Given the description of an element on the screen output the (x, y) to click on. 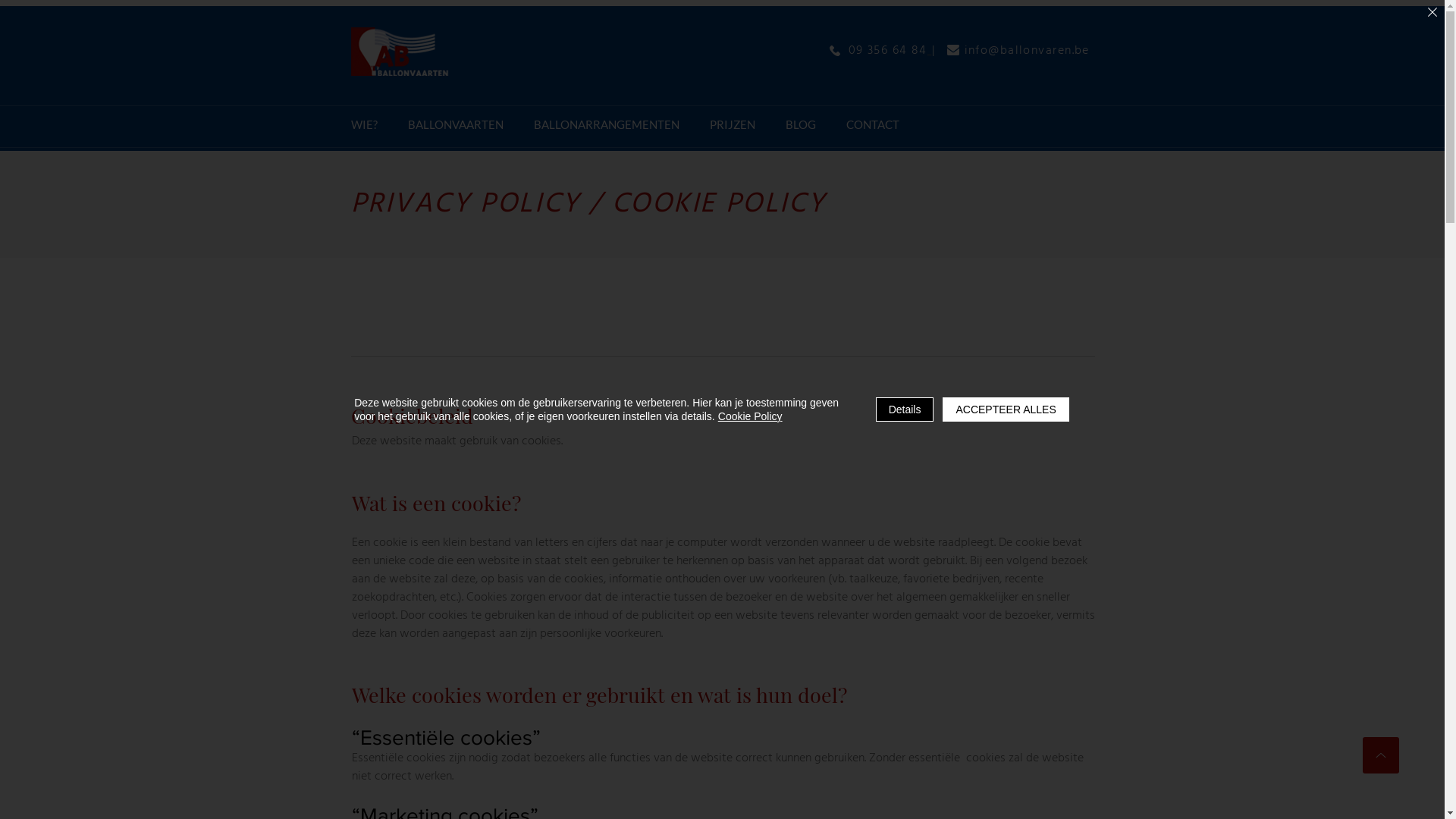
BALLONARRANGEMENTEN Element type: text (606, 125)
info@ballonvaren.be Element type: text (1026, 50)
WIE? Element type: text (363, 125)
ACCEPTEER ALLES Element type: text (1005, 409)
CONTACT Element type: text (872, 125)
Details Element type: text (904, 409)
PRIJZEN Element type: text (732, 125)
09 356 64 84  Element type: text (889, 50)
BLOG Element type: text (800, 125)
BALLONVAARTEN Element type: text (455, 125)
Cookie Policy Element type: text (750, 416)
